Given the description of an element on the screen output the (x, y) to click on. 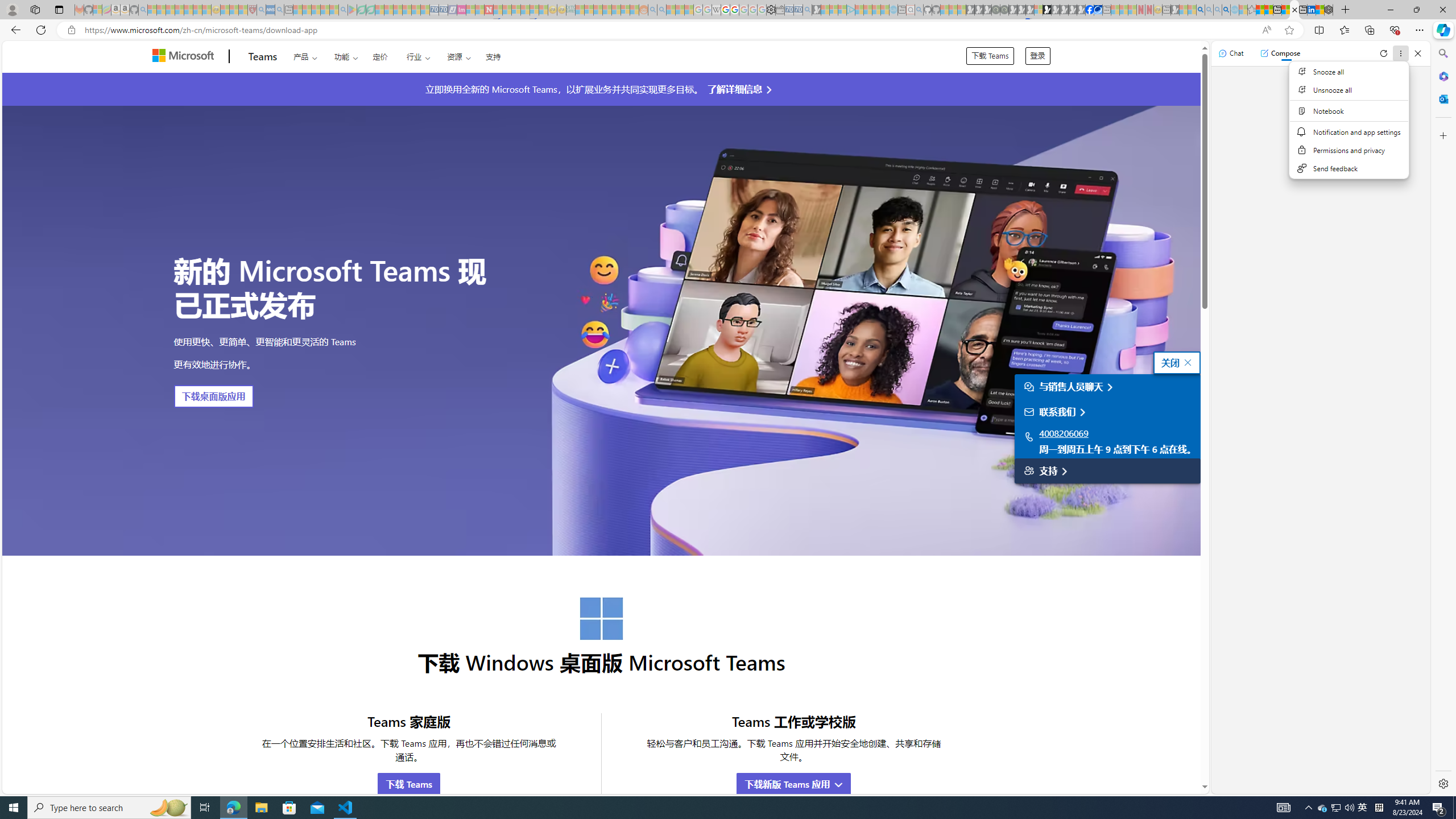
Bing Real Estate - Home sales and rental listings - Sleeping (806, 9)
Future Focus Report 2024 - Sleeping (1004, 9)
